Given the description of an element on the screen output the (x, y) to click on. 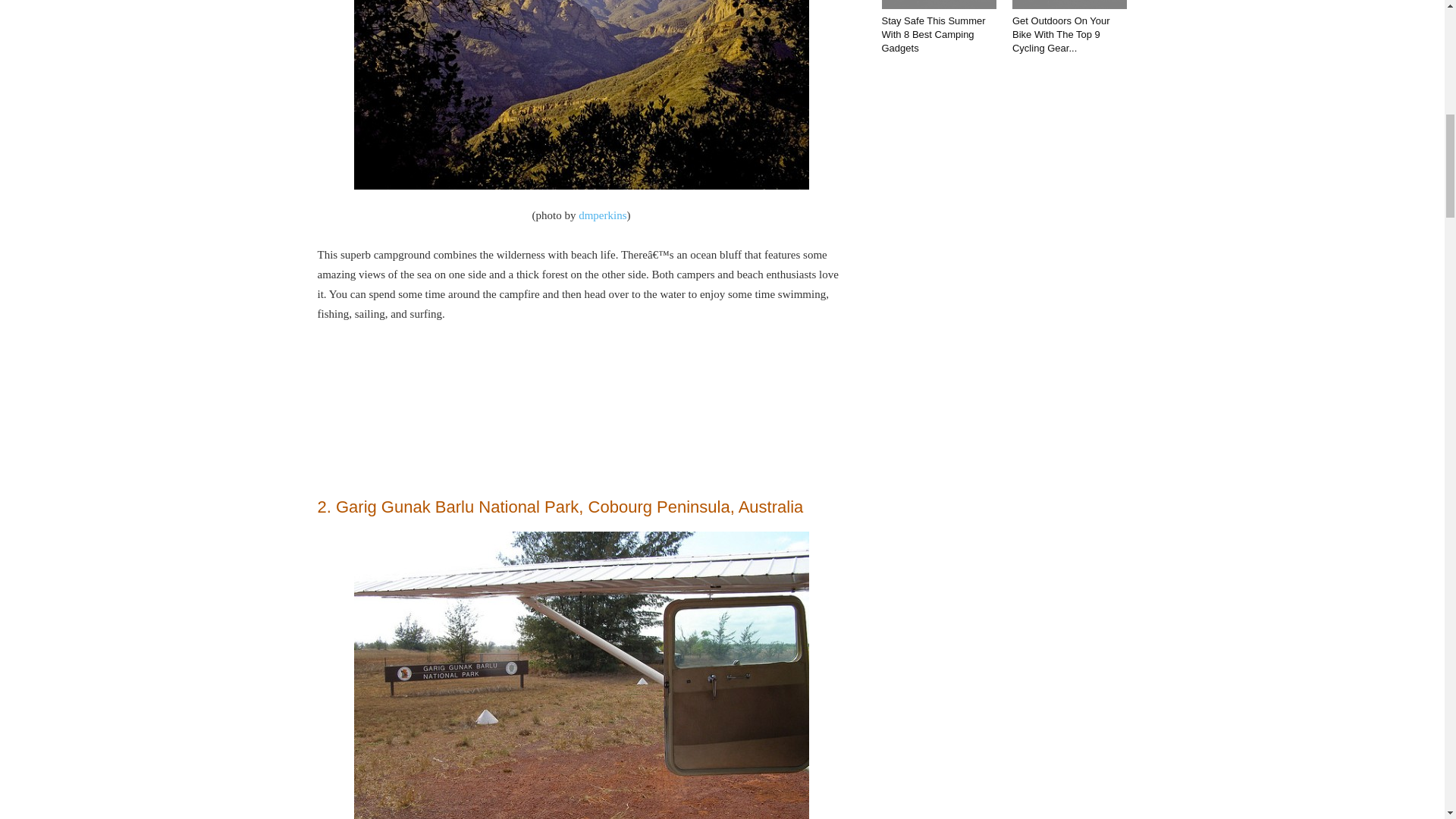
dmperkins (602, 215)
Advertisement (580, 409)
